Given the description of an element on the screen output the (x, y) to click on. 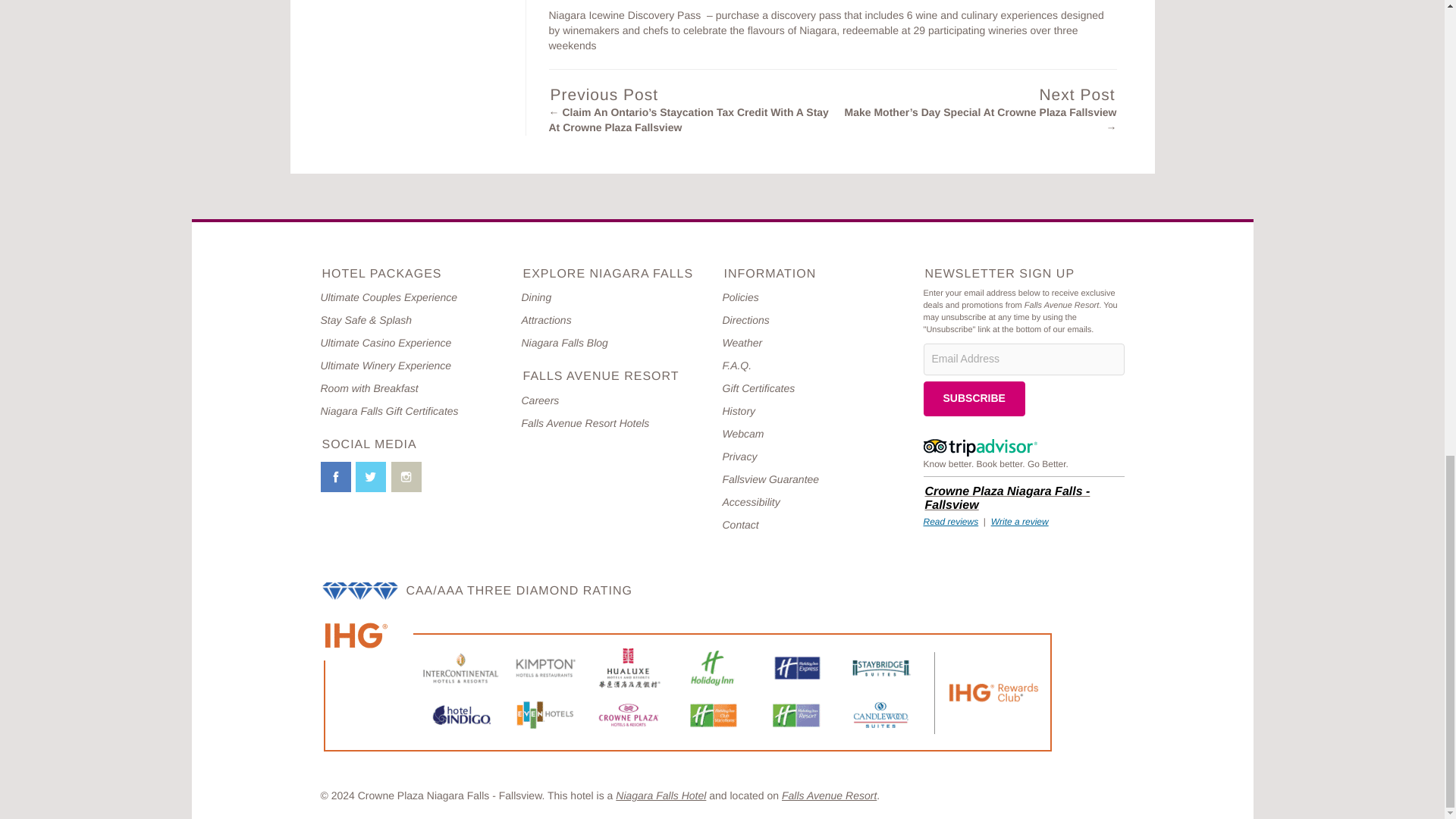
Ultimate Casino Experience (385, 342)
Ultimate Couples Experience (388, 297)
Like Us on Facebook (335, 476)
Ultimate Winery Experience (385, 365)
Follow Us on Instagram (406, 476)
Niagara Falls Gift Certificates (389, 410)
Follow Us on Twitter (370, 476)
Room with Breakfast (368, 387)
